Given the description of an element on the screen output the (x, y) to click on. 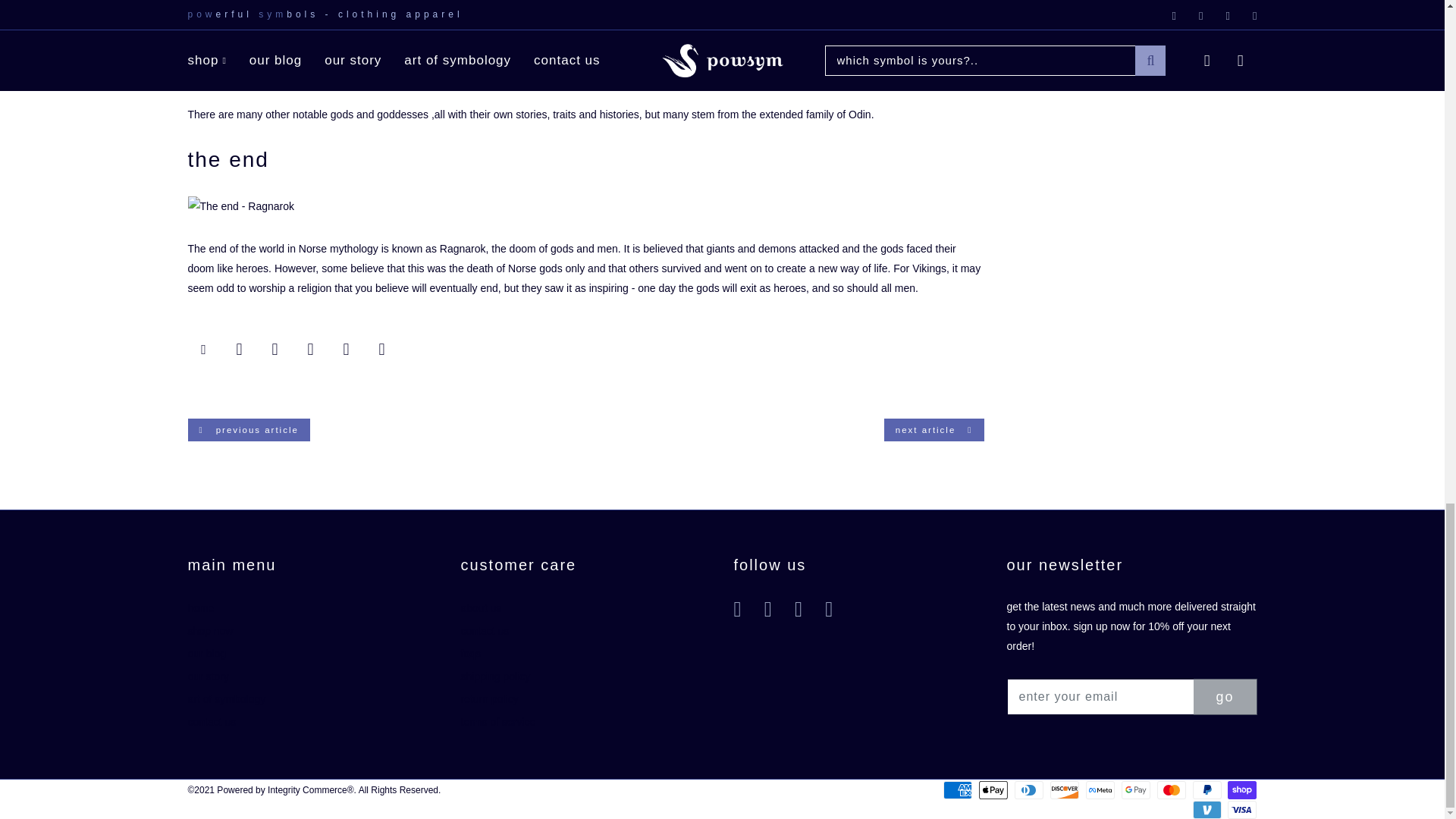
Apple Pay (992, 790)
Discover (1063, 790)
Go (1225, 696)
Shop Pay (1241, 790)
American Express (957, 790)
Google Pay (1135, 790)
PayPal (1206, 790)
Meta Pay (1100, 790)
Diners Club (1028, 790)
Mastercard (1171, 790)
